Given the description of an element on the screen output the (x, y) to click on. 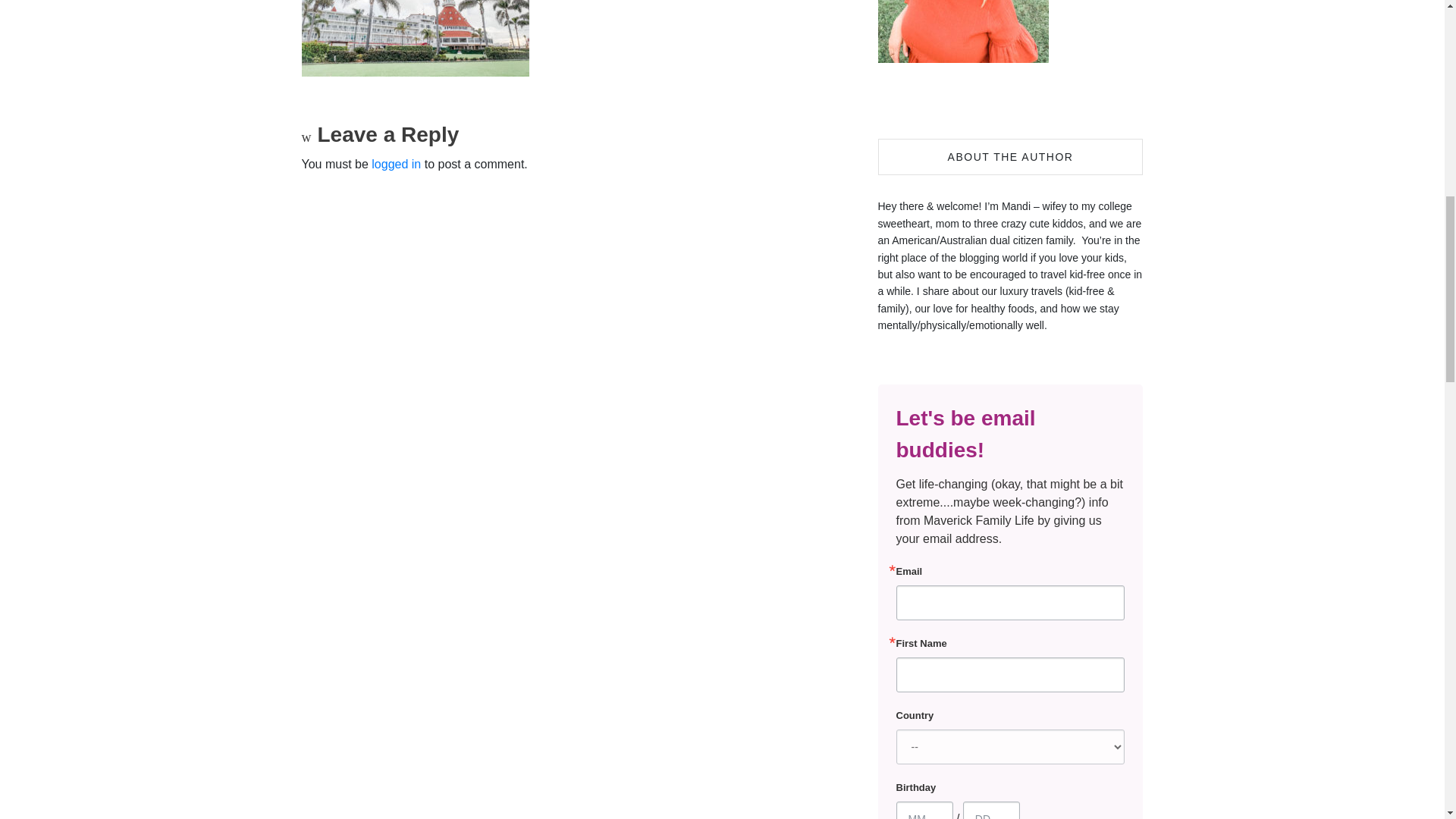
logged in (395, 164)
